Given the description of an element on the screen output the (x, y) to click on. 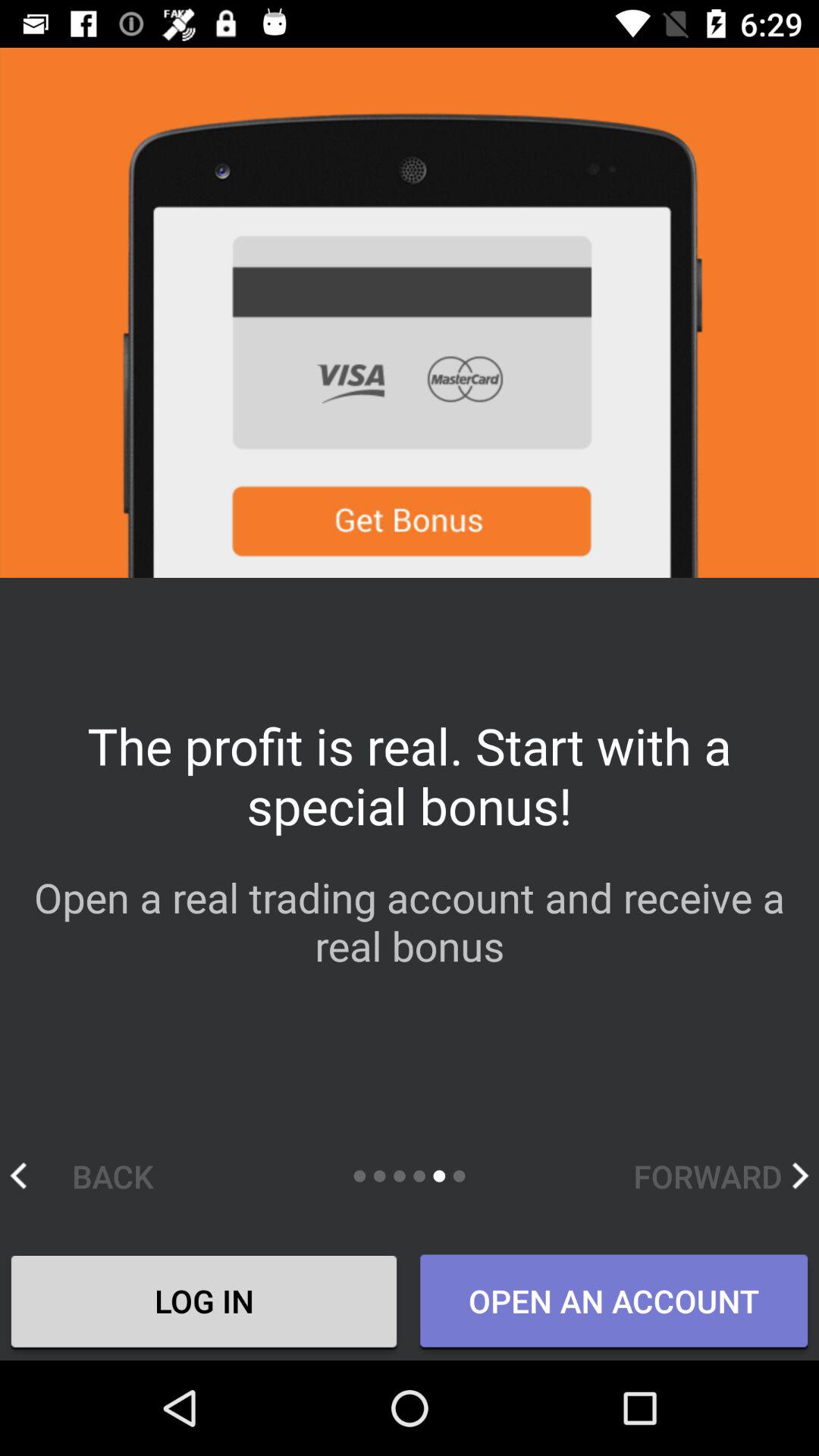
choose icon below the open a real icon (720, 1175)
